Given the description of an element on the screen output the (x, y) to click on. 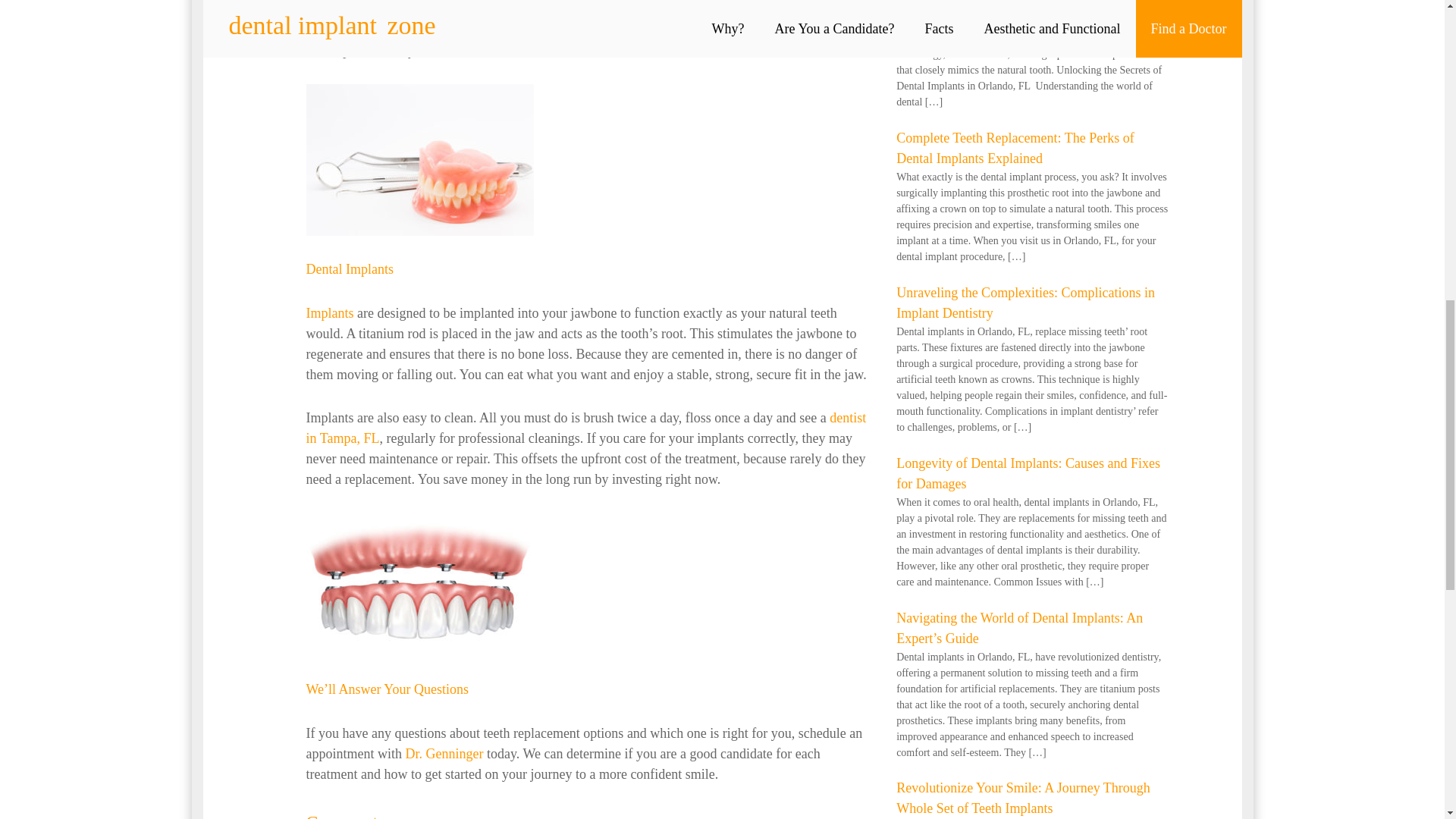
Longevity of Dental Implants: Causes and Fixes for Damages (1028, 473)
Dr. Genninger (443, 753)
Implants (329, 313)
